Given the description of an element on the screen output the (x, y) to click on. 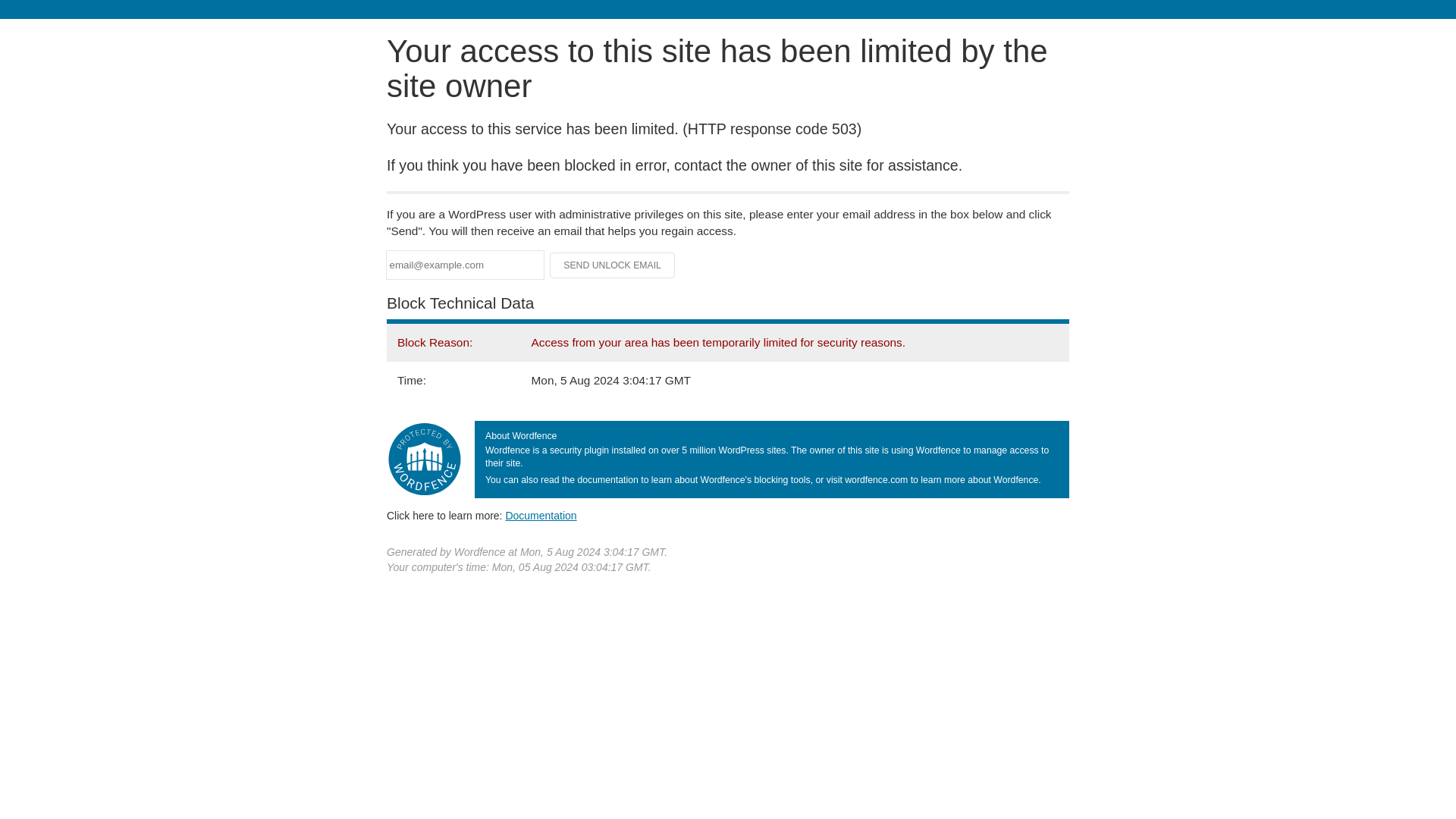
Documentation (540, 515)
Send Unlock Email (612, 265)
Send Unlock Email (612, 265)
